Given the description of an element on the screen output the (x, y) to click on. 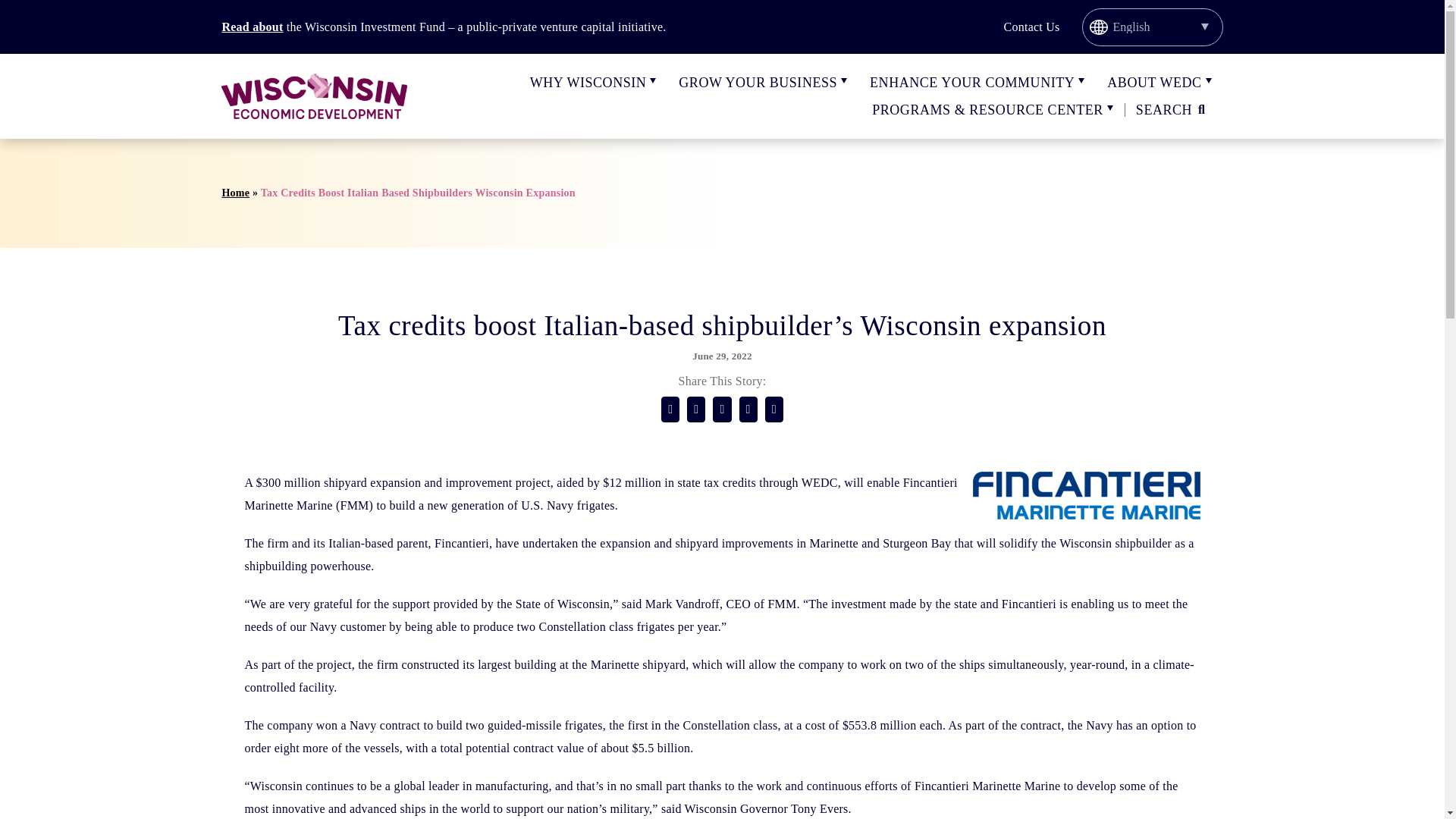
Search (1173, 109)
Why Wisconsin (587, 82)
Contact Us (1031, 26)
WHY WISCONSIN (587, 82)
Read about (251, 26)
Contact Us (1031, 26)
Wisconsin Investment Fund. (251, 26)
